Given the description of an element on the screen output the (x, y) to click on. 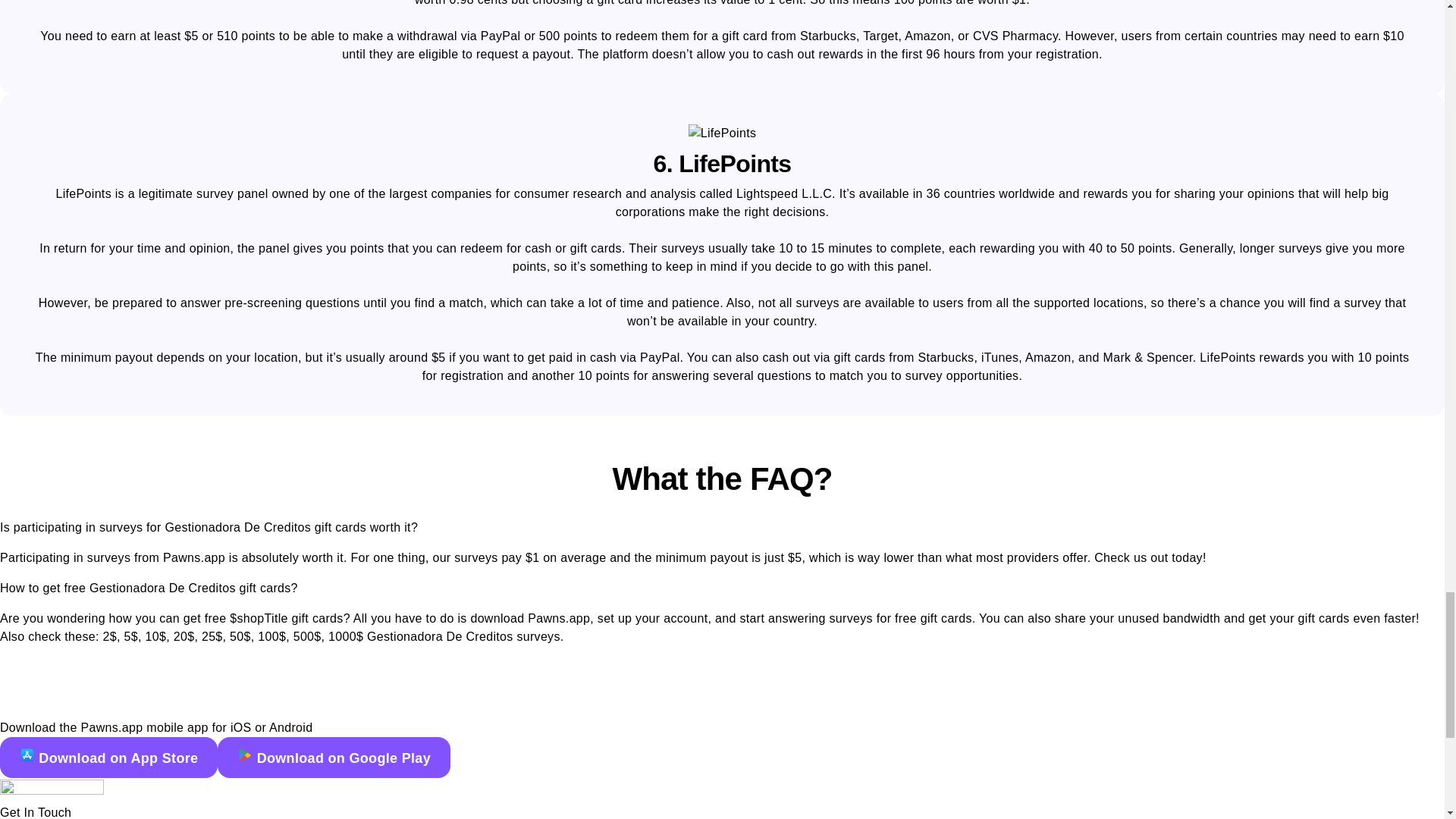
Download on App Store (108, 757)
Download on Google Play (332, 757)
